Given the description of an element on the screen output the (x, y) to click on. 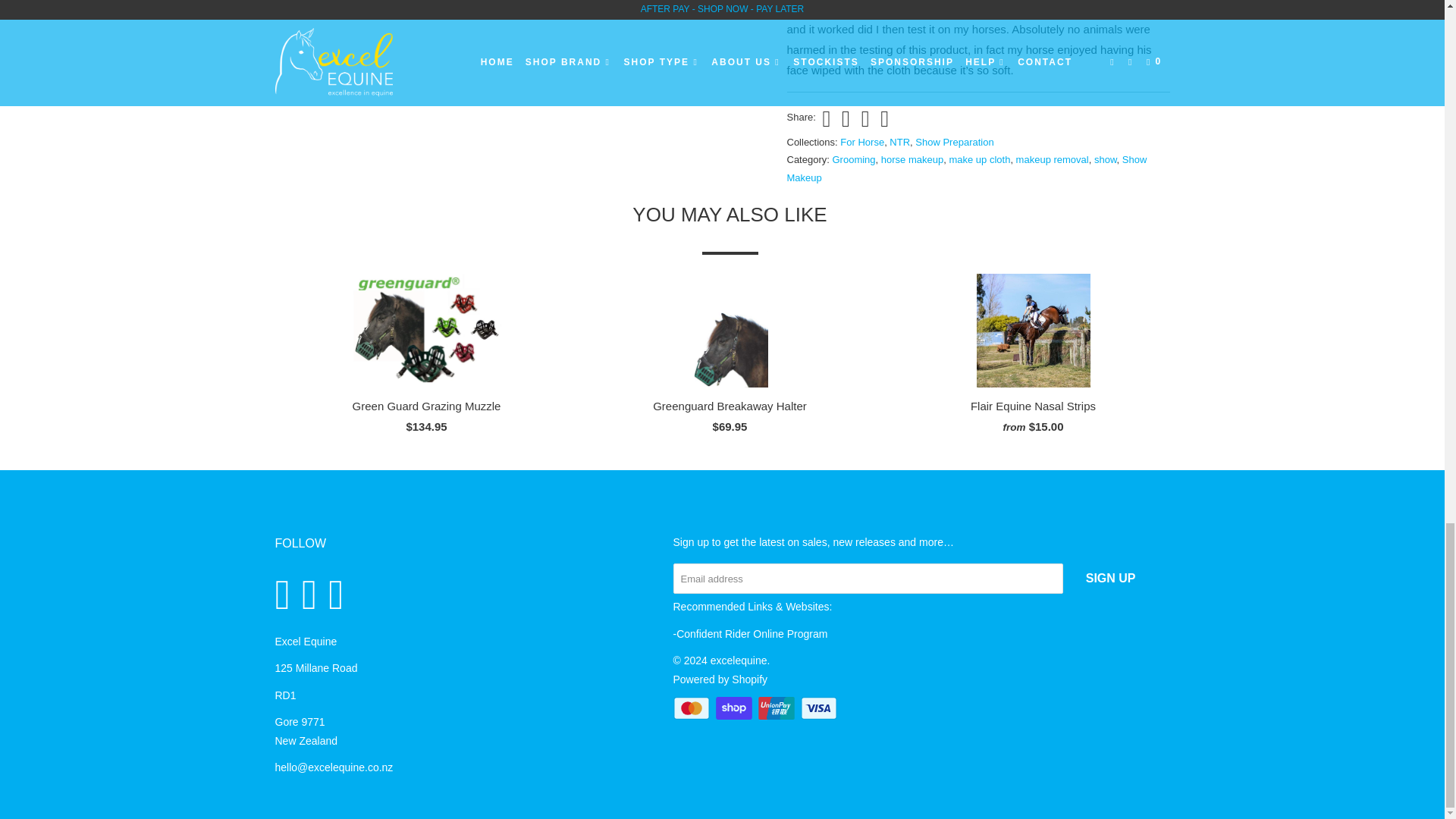
For Horse (861, 142)
Union Pay (777, 707)
Mastercard (692, 707)
Shop Pay (735, 707)
Visa (820, 707)
NTR (899, 142)
Products tagged Grooming (854, 159)
Show Preparation (953, 142)
Products tagged make up cloth (979, 159)
Products tagged horse makeup (911, 159)
Products tagged makeup removal (1052, 159)
Sign Up (1110, 578)
